Given the description of an element on the screen output the (x, y) to click on. 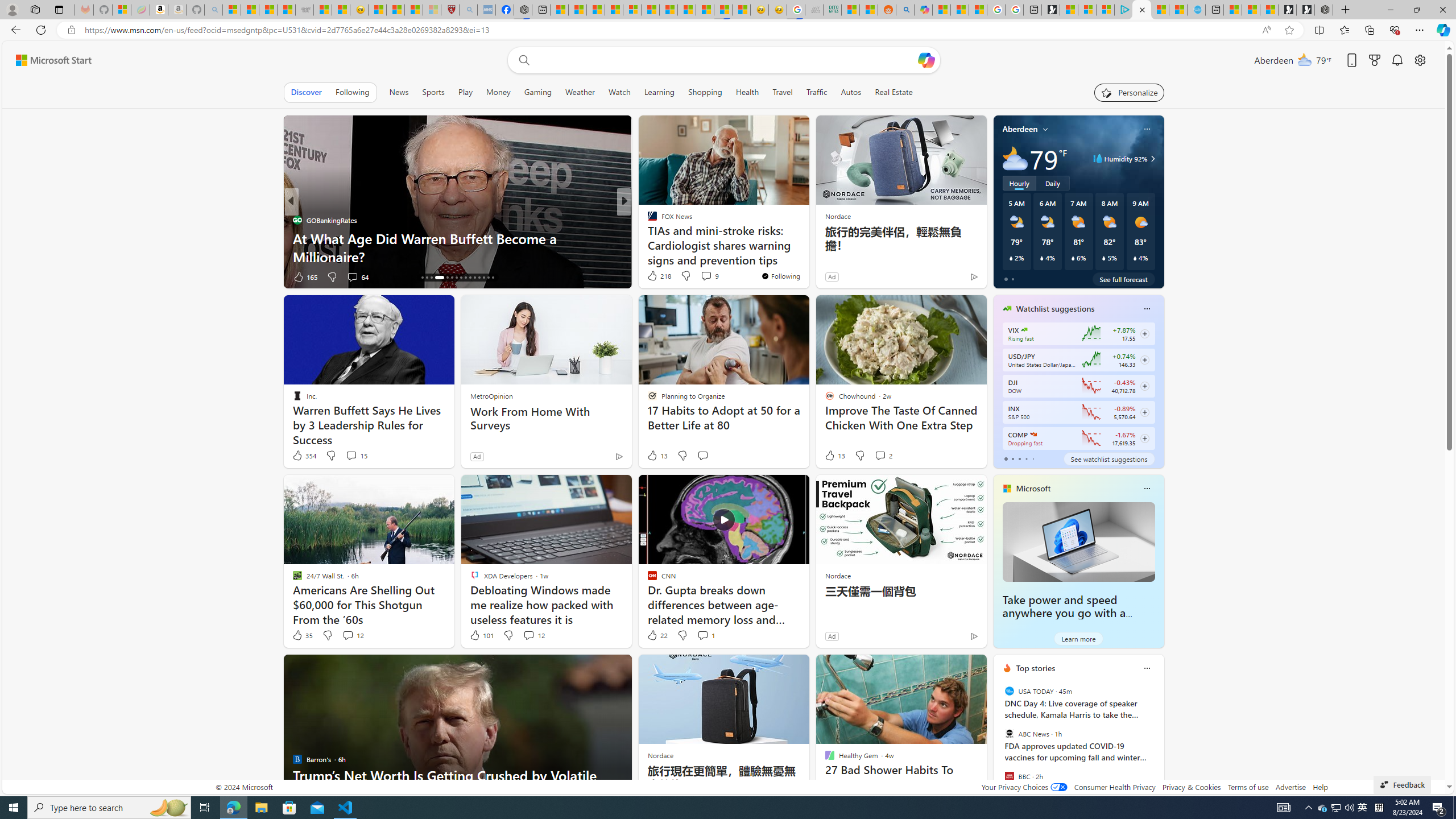
2 Like (301, 276)
AutomationID: tab-18 (431, 277)
View comments 34 Comment (707, 276)
Watchlist suggestions (1055, 308)
View comments 15 Comment (350, 455)
67 Like (652, 276)
415 Like (654, 276)
